Given the description of an element on the screen output the (x, y) to click on. 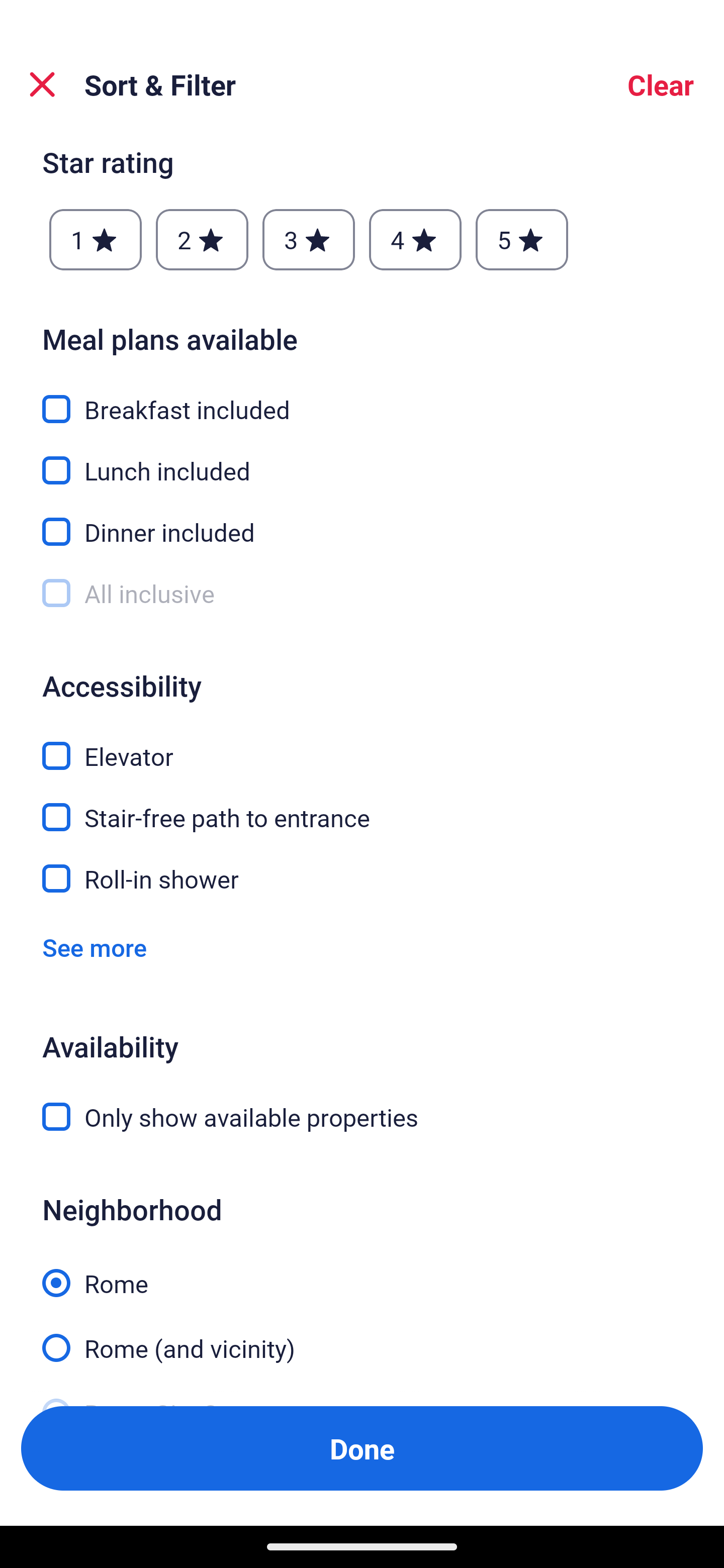
Close Sort and Filter (42, 84)
Clear (660, 84)
1 (95, 239)
2 (201, 239)
3 (308, 239)
4 (415, 239)
5 (521, 239)
Breakfast included, Breakfast included (361, 397)
Lunch included, Lunch included (361, 458)
Dinner included, Dinner included (361, 520)
All inclusive, All inclusive (361, 593)
Elevator, Elevator (361, 744)
Roll-in shower, Roll-in shower (361, 879)
See more See more accessibility options Link (93, 946)
Rome (and vicinity) (361, 1336)
Apply and close Sort and Filter Done (361, 1448)
